Given the description of an element on the screen output the (x, y) to click on. 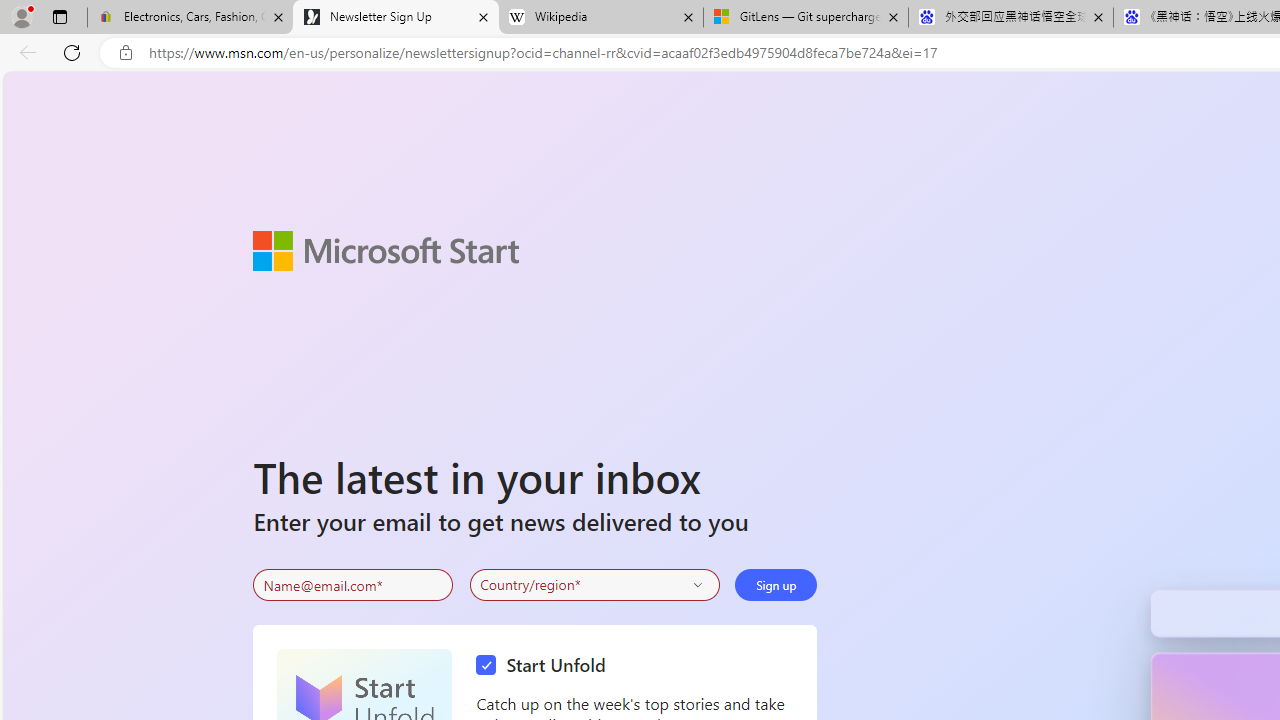
Enter your email (353, 585)
